Given the description of an element on the screen output the (x, y) to click on. 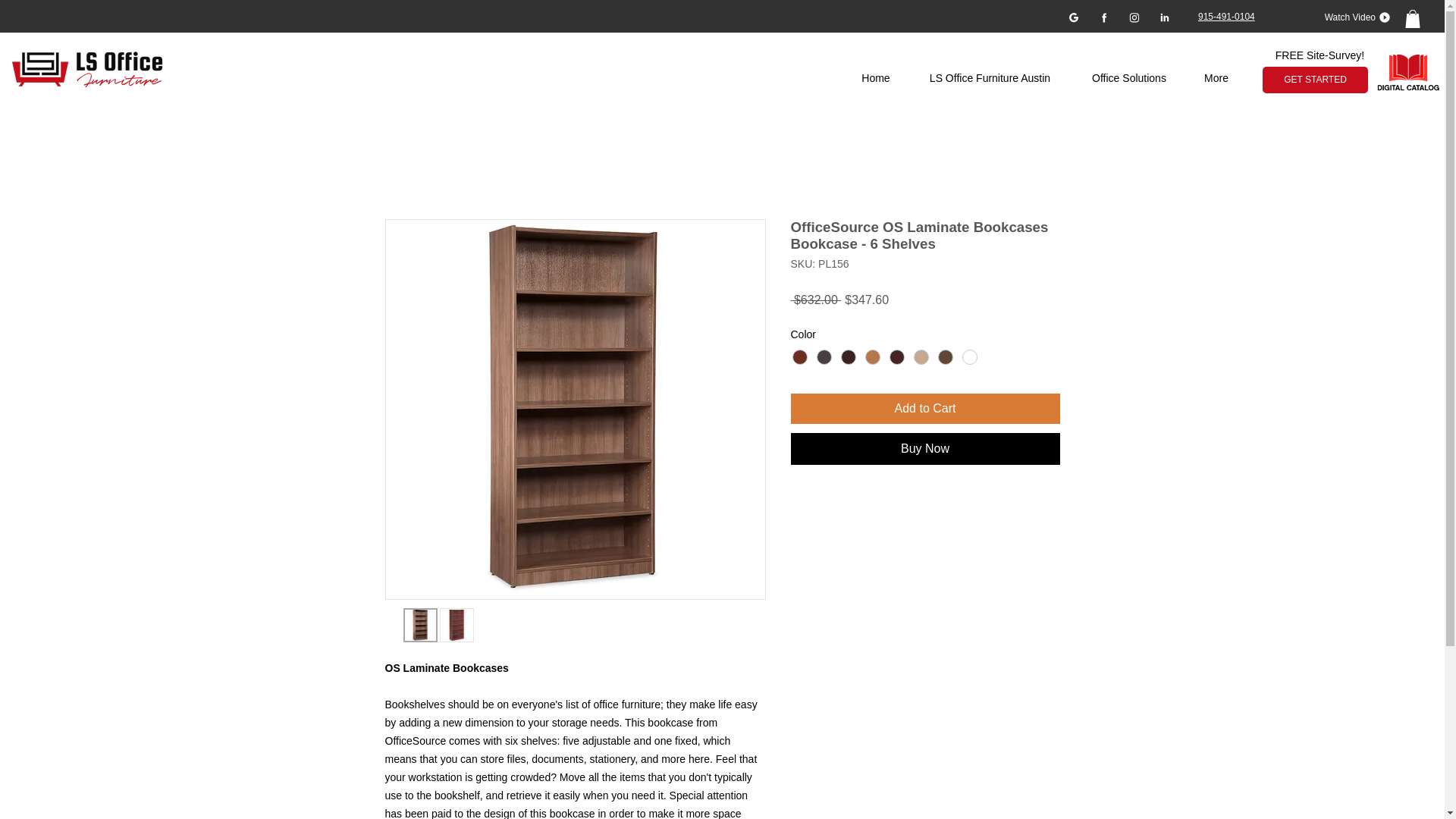
Home (875, 78)
Add to Cart (924, 408)
Watch Video (1350, 16)
Digital Catalog (1409, 73)
LS Office Furniture Austin (989, 78)
Buy Now (924, 449)
GET STARTED (1315, 79)
Office Solutions (1128, 78)
915-491-0104 (1226, 16)
